Given the description of an element on the screen output the (x, y) to click on. 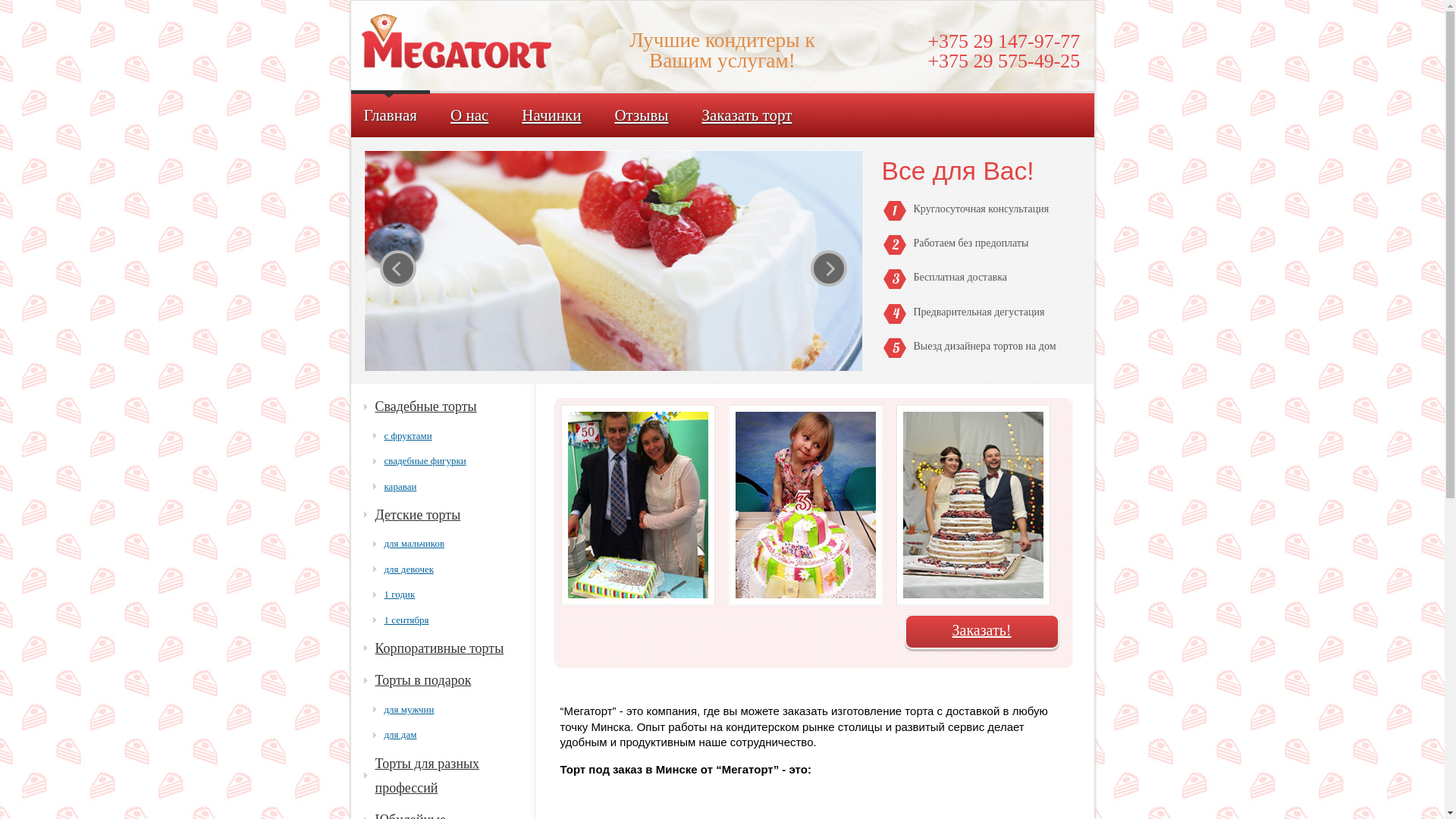
next Element type: text (827, 268)
prev Element type: text (397, 268)
